Given the description of an element on the screen output the (x, y) to click on. 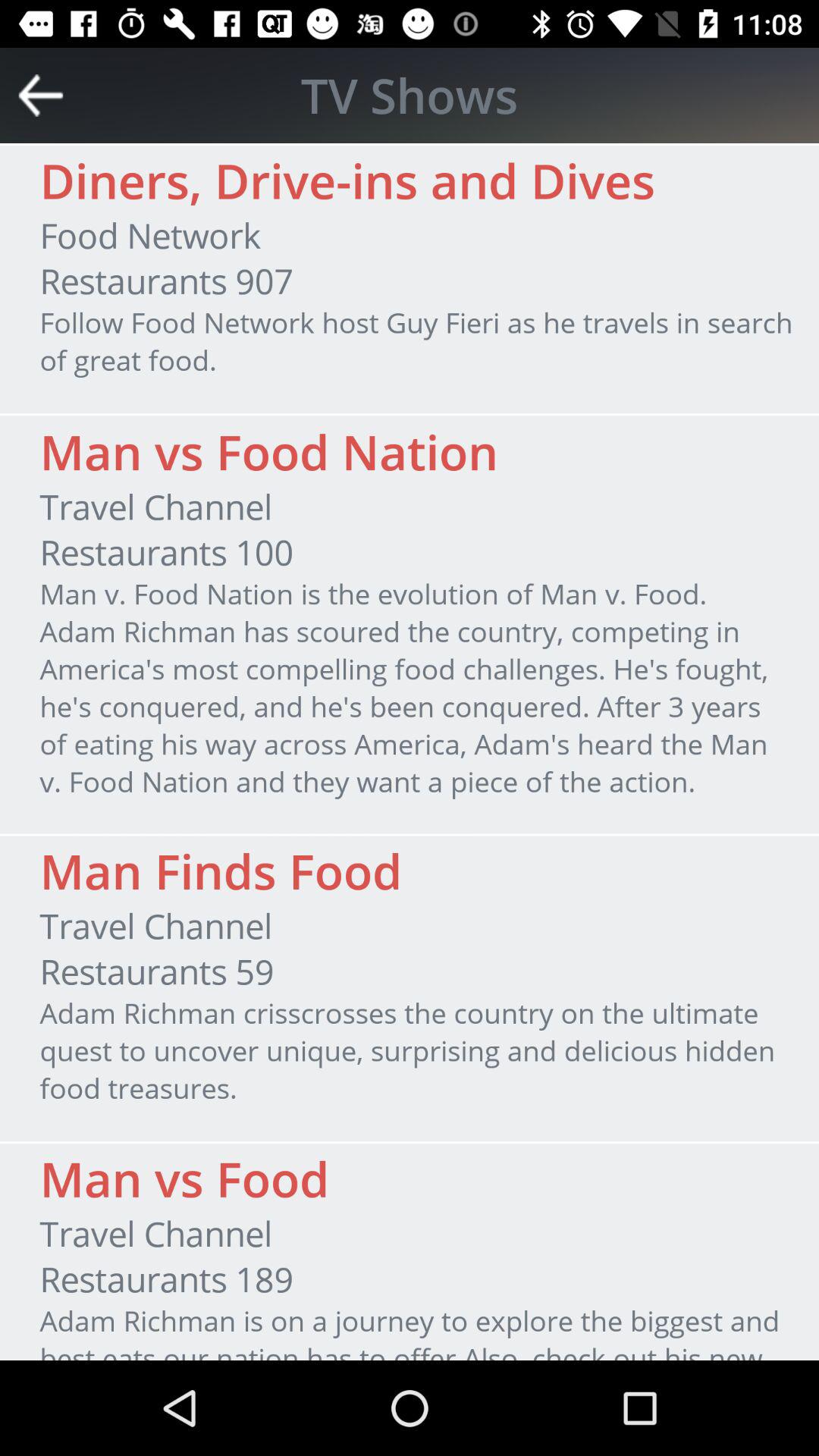
scroll to restaurants 189 (166, 1278)
